Given the description of an element on the screen output the (x, y) to click on. 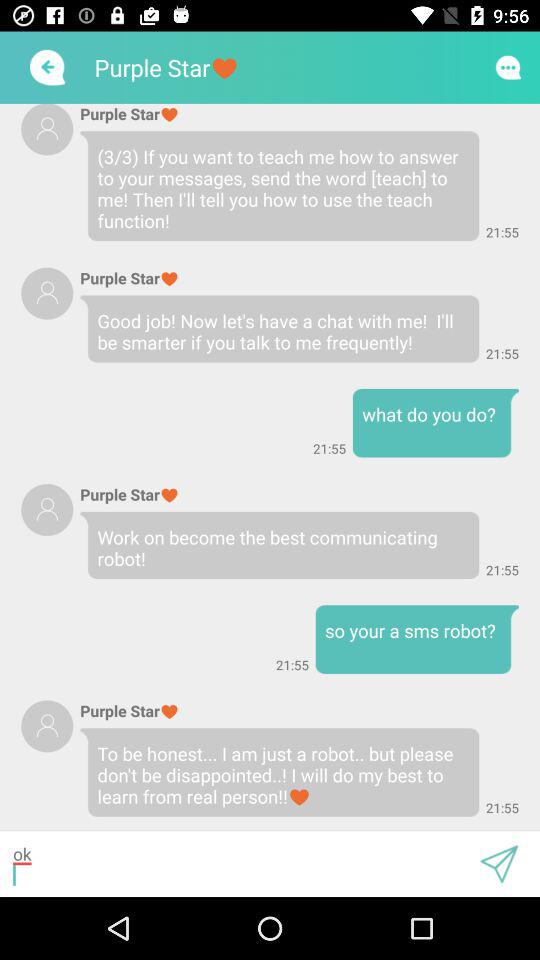
user profile photo (47, 726)
